Given the description of an element on the screen output the (x, y) to click on. 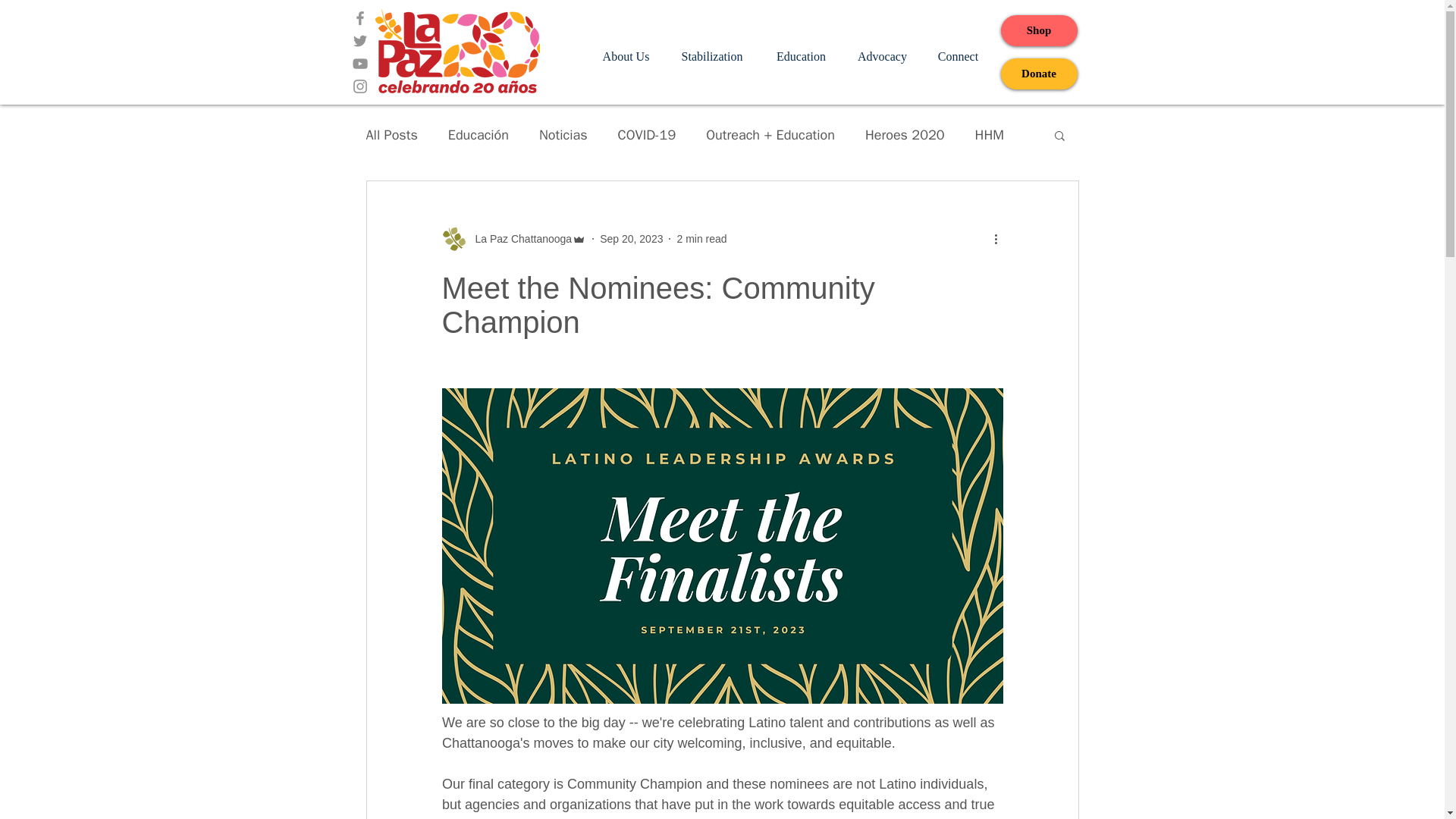
Noticias (563, 135)
La Paz Chattanooga (513, 238)
Shop (1039, 30)
COVID-19 (647, 135)
Donate (1039, 73)
Advocacy (882, 56)
Sep 20, 2023 (630, 237)
Heroes 2020 (904, 135)
Stabilization (710, 56)
La Paz Chattanooga (518, 238)
